Given the description of an element on the screen output the (x, y) to click on. 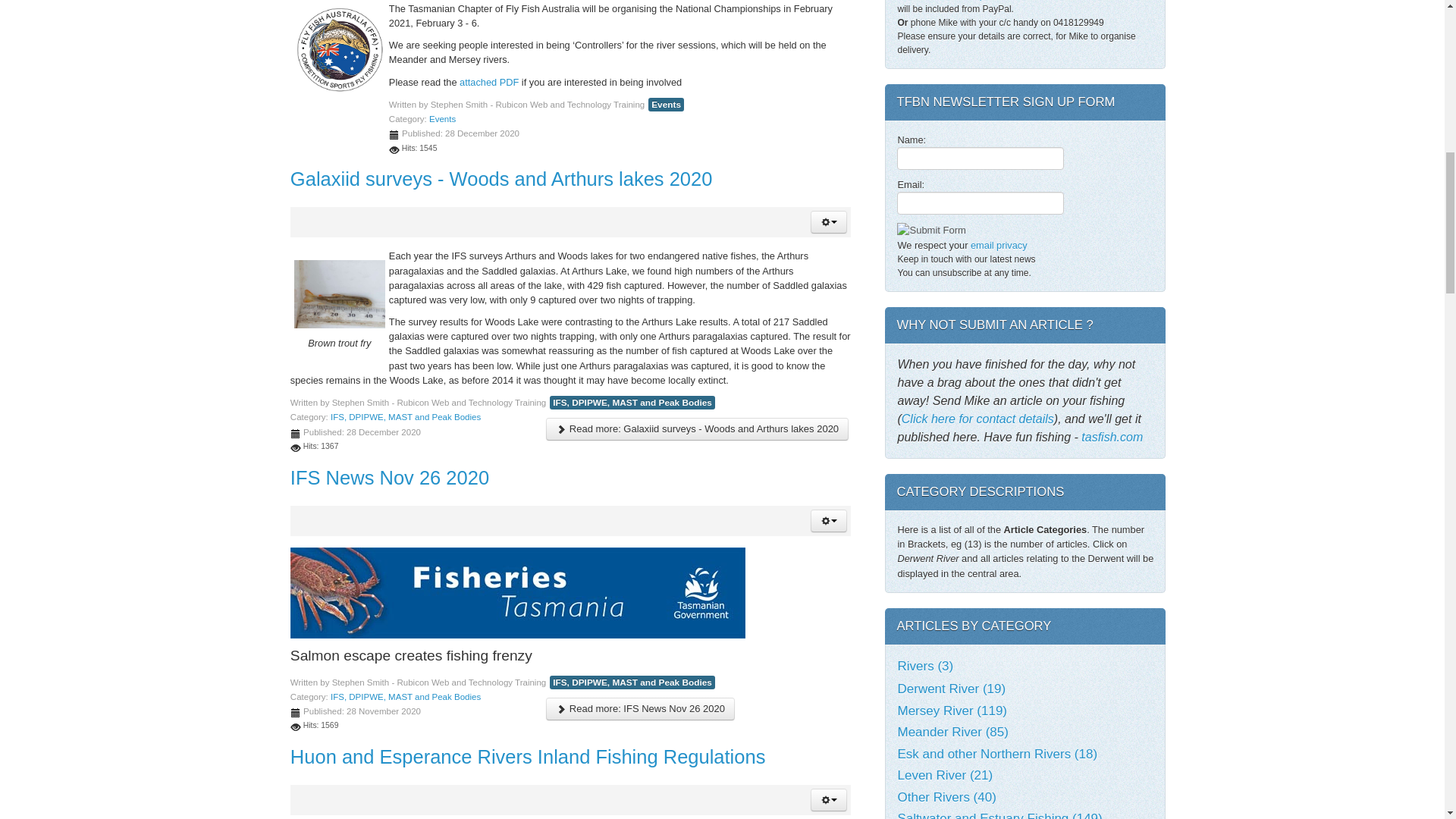
attached PDF (489, 81)
IFS, DPIPWE, MAST and Peak Bodies (405, 416)
IFS News Nov 26 2020 (389, 477)
Events (442, 118)
Read more: Galaxiid surveys - Woods and Arthurs lakes 2020 (697, 428)
Events (665, 104)
IFS, DPIPWE, MAST and Peak Bodies (632, 402)
Galaxiid surveys - Woods and Arthurs lakes 2020 (501, 178)
